Given the description of an element on the screen output the (x, y) to click on. 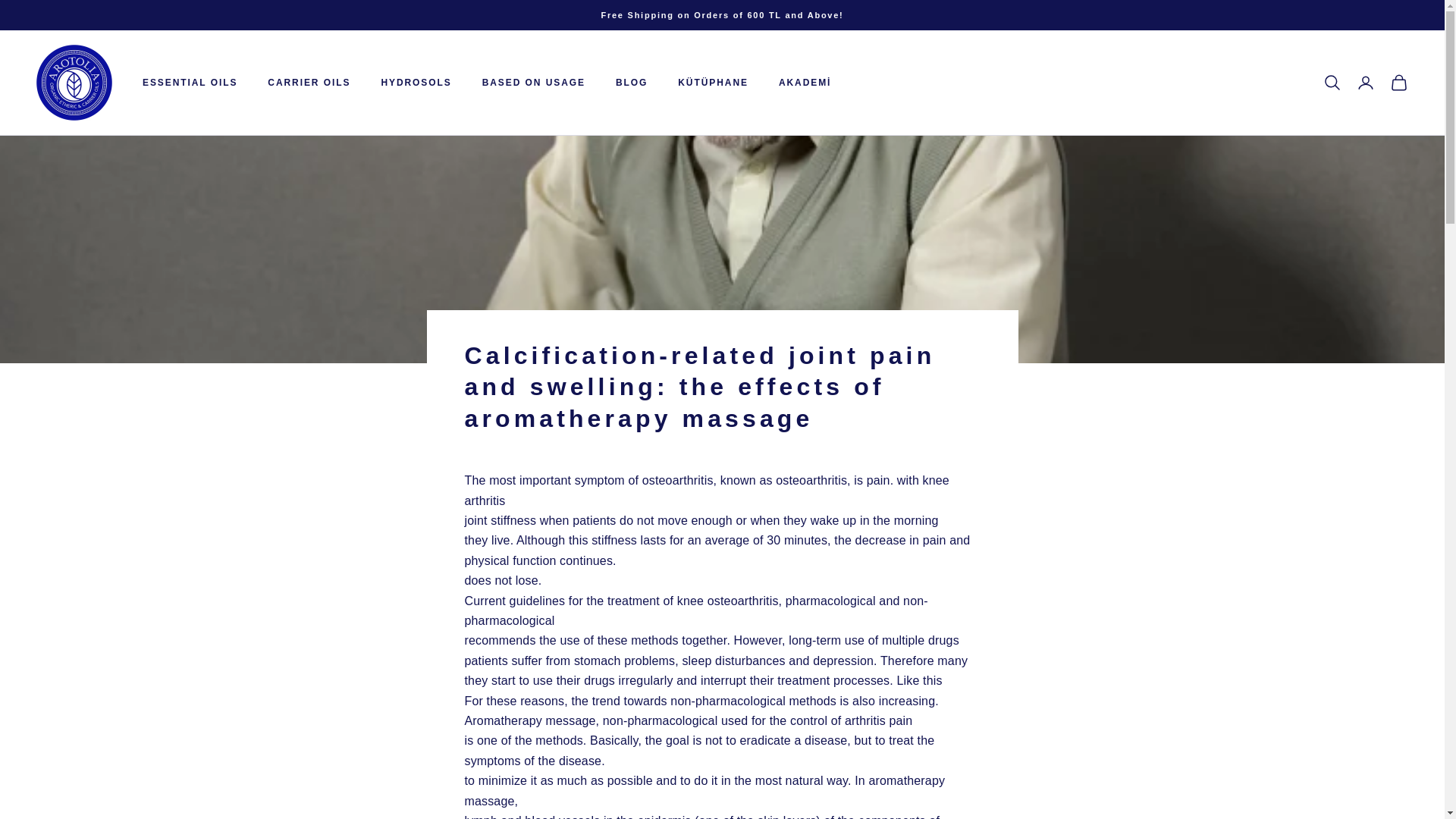
HYDROSOLS (415, 82)
Open cart (1398, 82)
BLOG (631, 82)
Open search (1331, 82)
Open account page (1365, 82)
ESSENTIAL OILS (189, 82)
CARRIER OILS (308, 82)
Arotolia (74, 82)
